Given the description of an element on the screen output the (x, y) to click on. 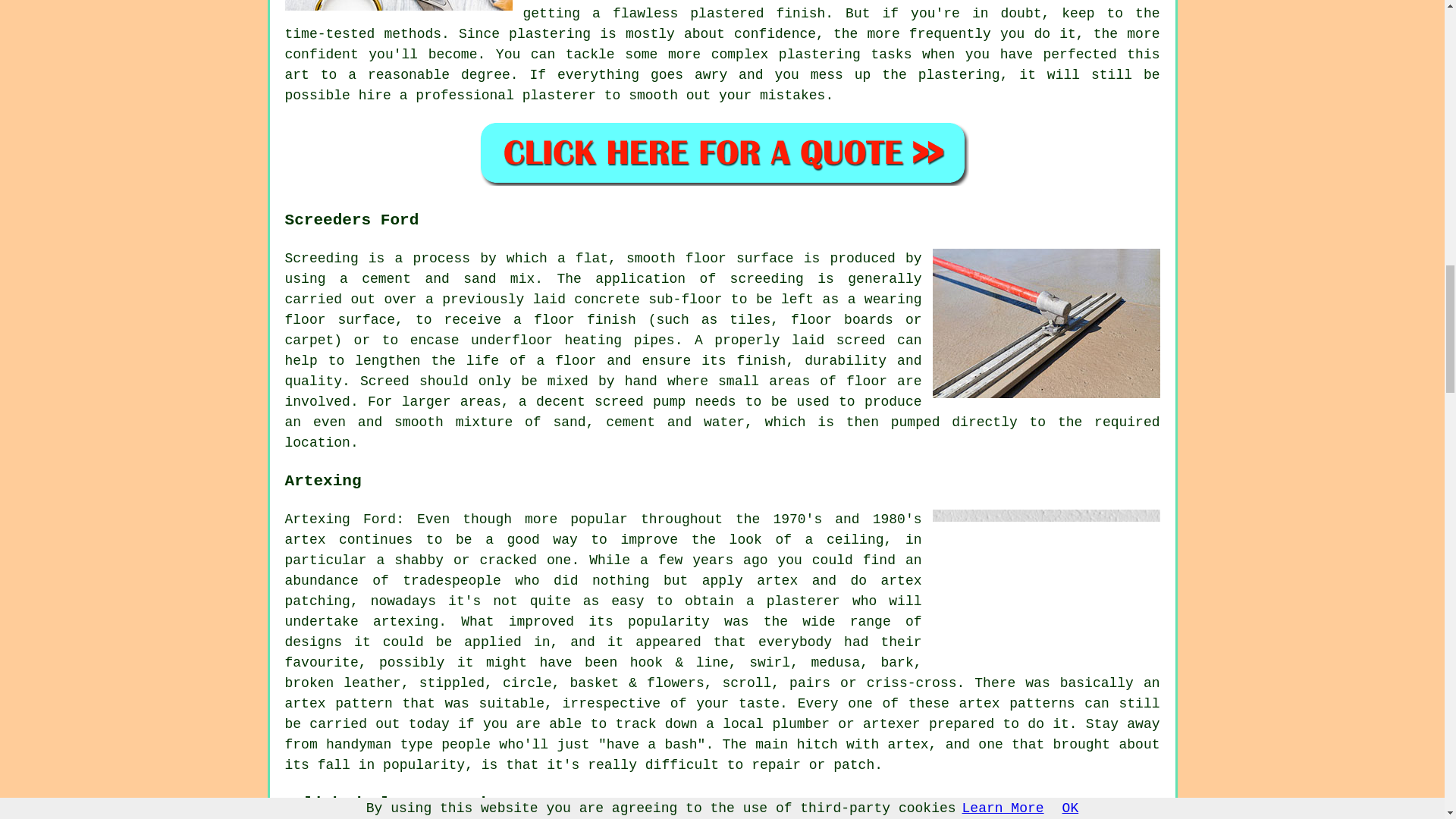
Artexing Ford West Sussex (1046, 583)
DIY Plastering Ford UK (398, 5)
Screeding Ford (1046, 323)
